Given the description of an element on the screen output the (x, y) to click on. 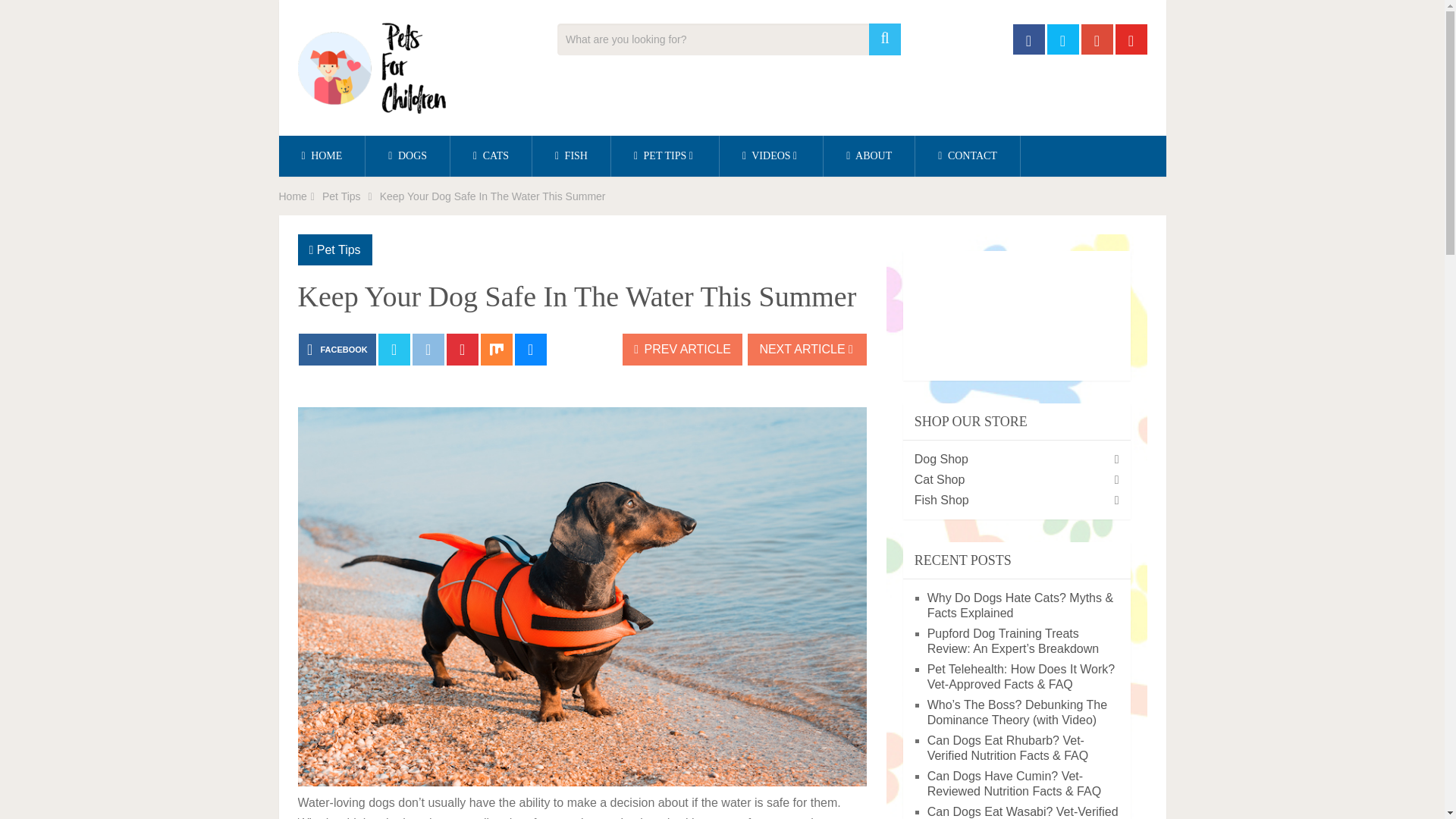
Home (293, 196)
PREV ARTICLE (682, 349)
CONTACT (967, 155)
CATS (490, 155)
FISH (571, 155)
Pet Tips (339, 249)
PET TIPS (665, 155)
VIDEOS (770, 155)
Pet Tips (341, 196)
NEXT ARTICLE (807, 349)
ABOUT (869, 155)
View all posts in Pet Tips (339, 249)
DOGS (407, 155)
HOME (322, 155)
FACEBOOK (336, 349)
